Given the description of an element on the screen output the (x, y) to click on. 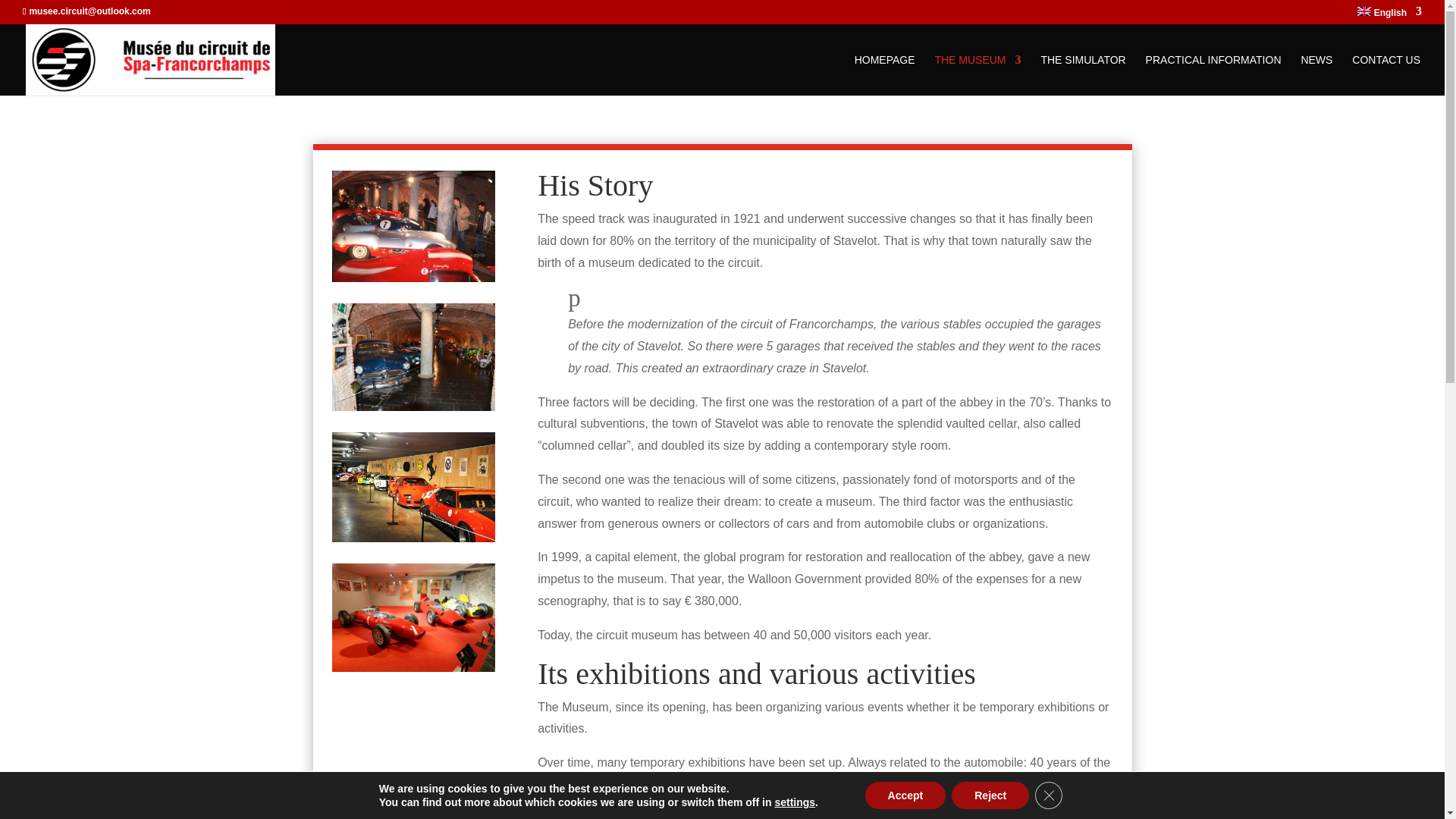
English (1389, 15)
THE SIMULATOR (1083, 74)
PRACTICAL INFORMATION (1213, 74)
Reject (990, 795)
CONTACT US (1386, 74)
English (1389, 15)
settings (794, 802)
HOMEPAGE (884, 74)
THE MUSEUM (977, 74)
musee-du-circuit-de-spa (413, 357)
